Given the description of an element on the screen output the (x, y) to click on. 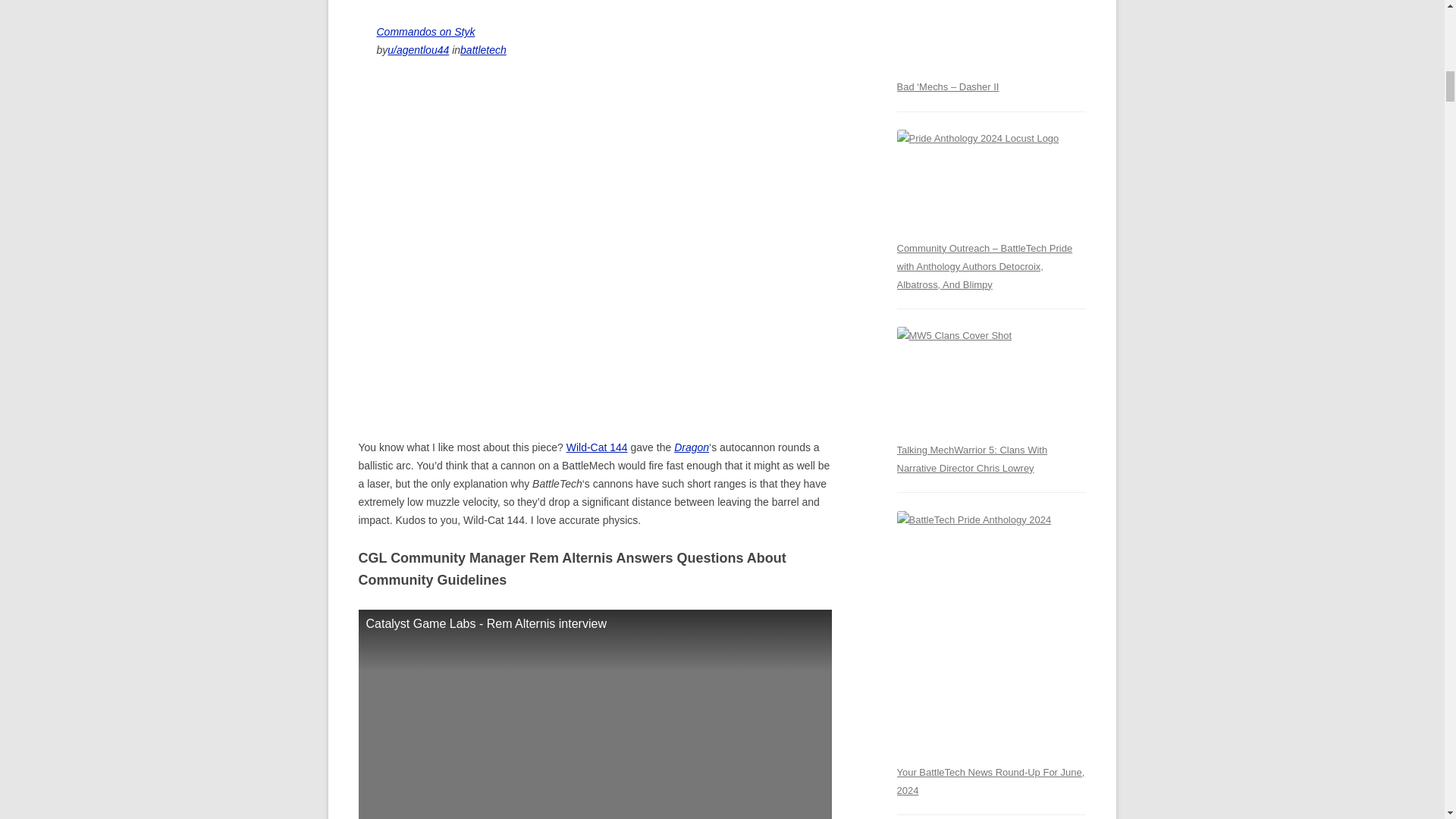
Commandos on Styk (424, 31)
Dragon (691, 447)
Catalyst Game Labs - Rem Alternis interview (594, 714)
battletech (483, 50)
Wild-Cat 144 (596, 447)
